Given the description of an element on the screen output the (x, y) to click on. 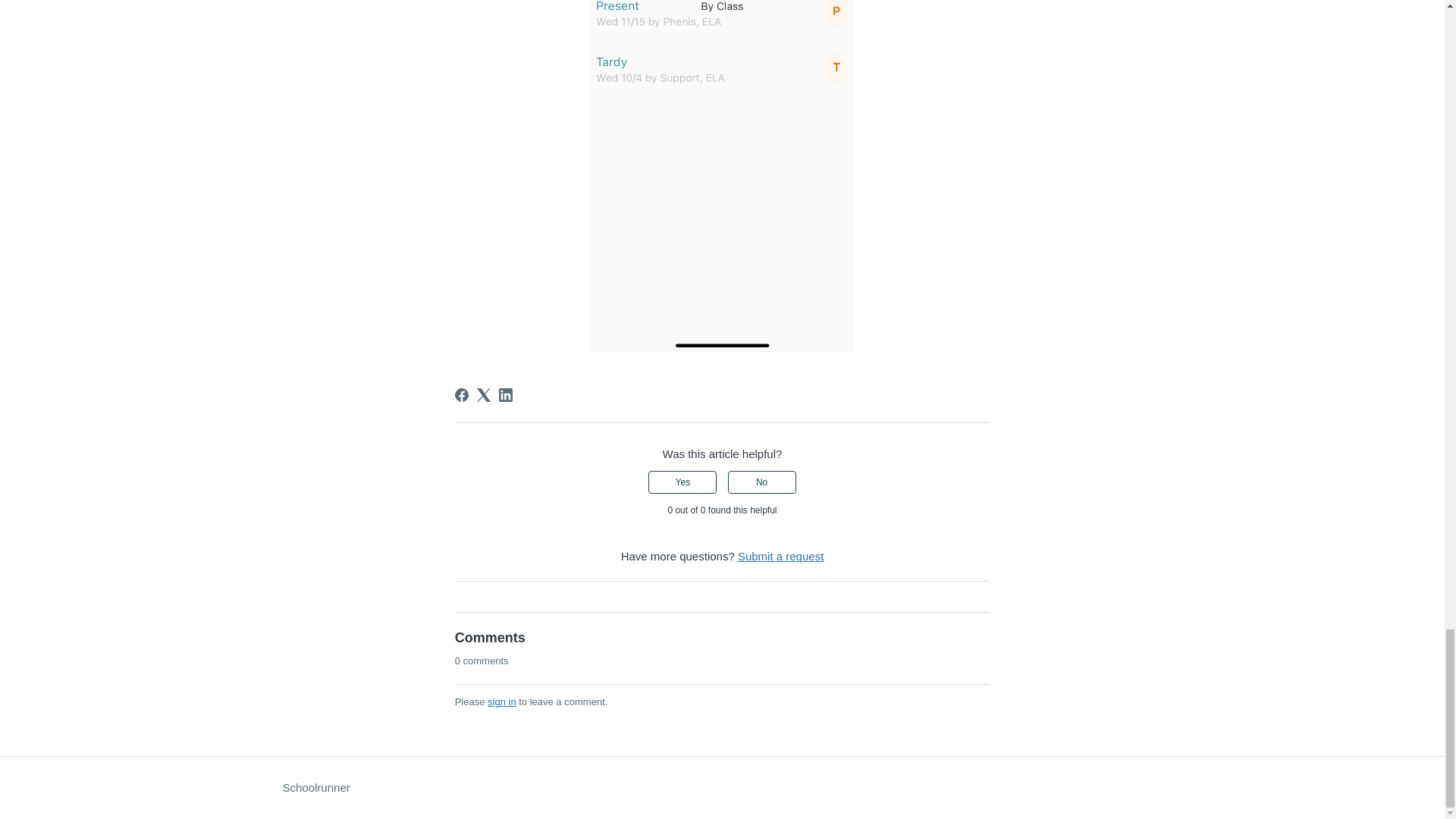
Yes (681, 481)
Home (315, 787)
sign in (501, 701)
Schoolrunner (315, 787)
No (762, 481)
Submit a request (781, 555)
